Given the description of an element on the screen output the (x, y) to click on. 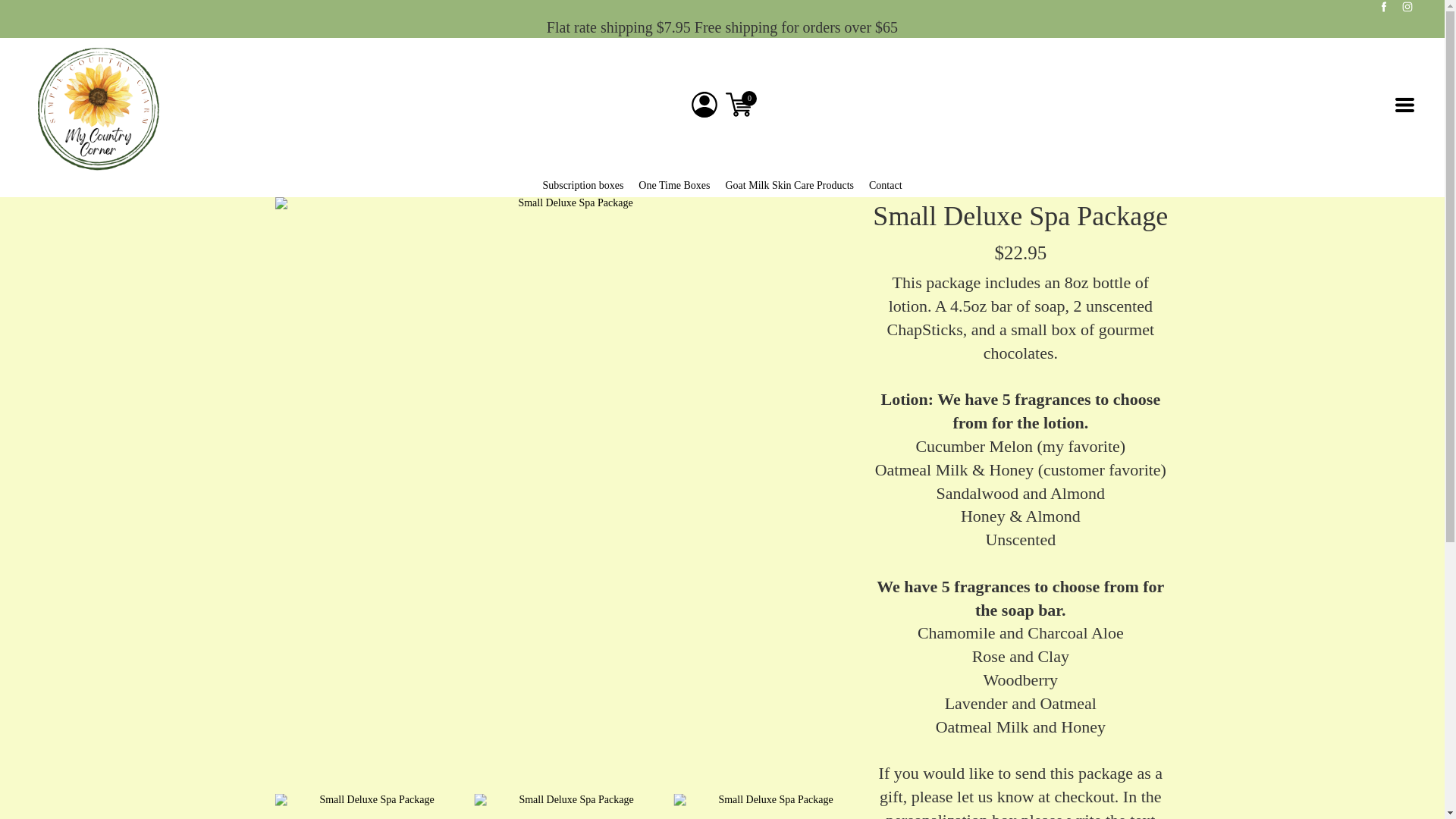
Subscription boxes (582, 185)
Small Deluxe Spa Package (768, 806)
Contact (885, 185)
0 (739, 103)
Goat Milk Skin Care Products (789, 185)
Small Deluxe Spa Package (370, 806)
One Time Boxes (674, 185)
Small Deluxe Spa Package (570, 806)
